Given the description of an element on the screen output the (x, y) to click on. 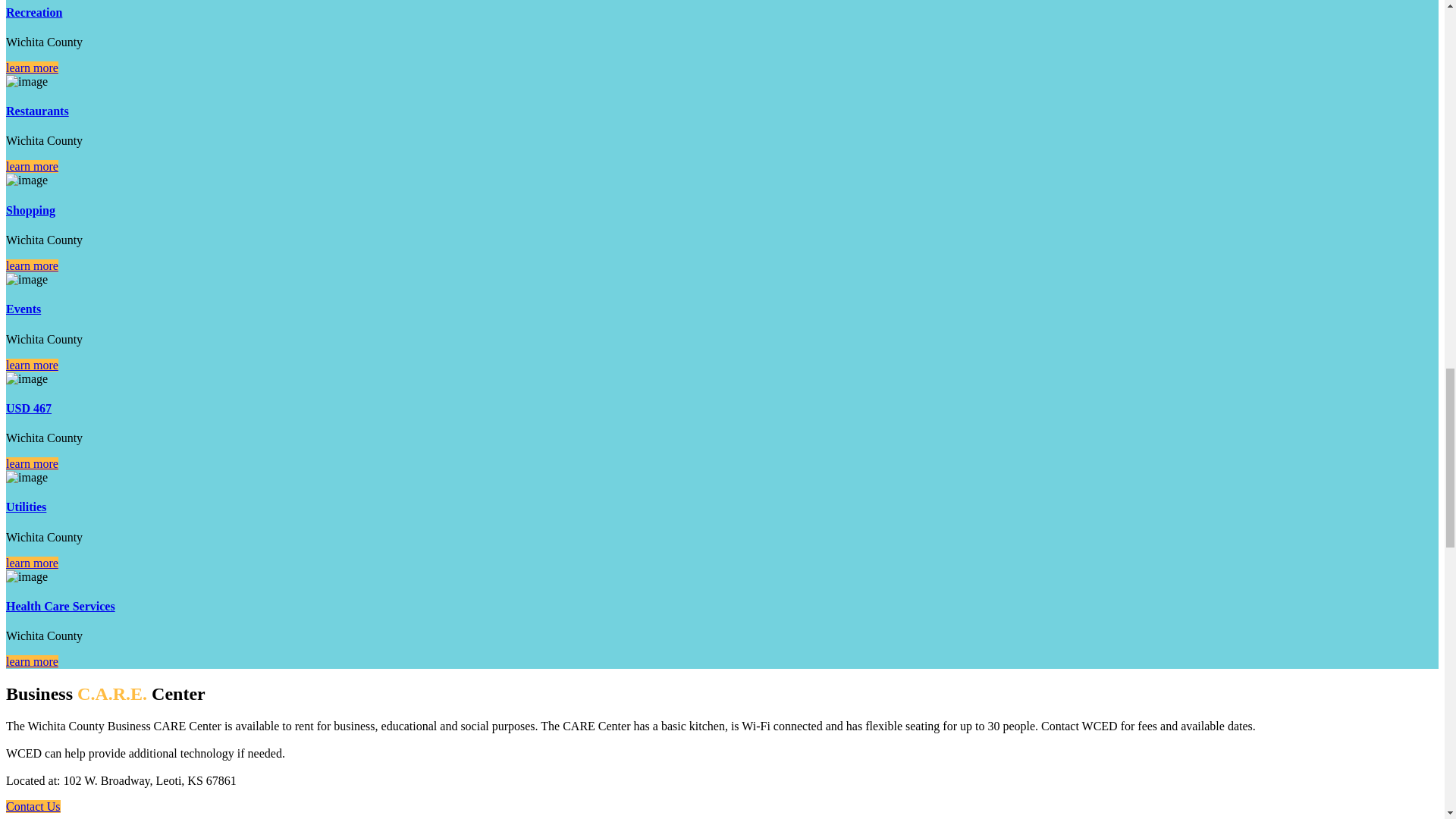
learn more (31, 67)
Recreation (33, 11)
